Given the description of an element on the screen output the (x, y) to click on. 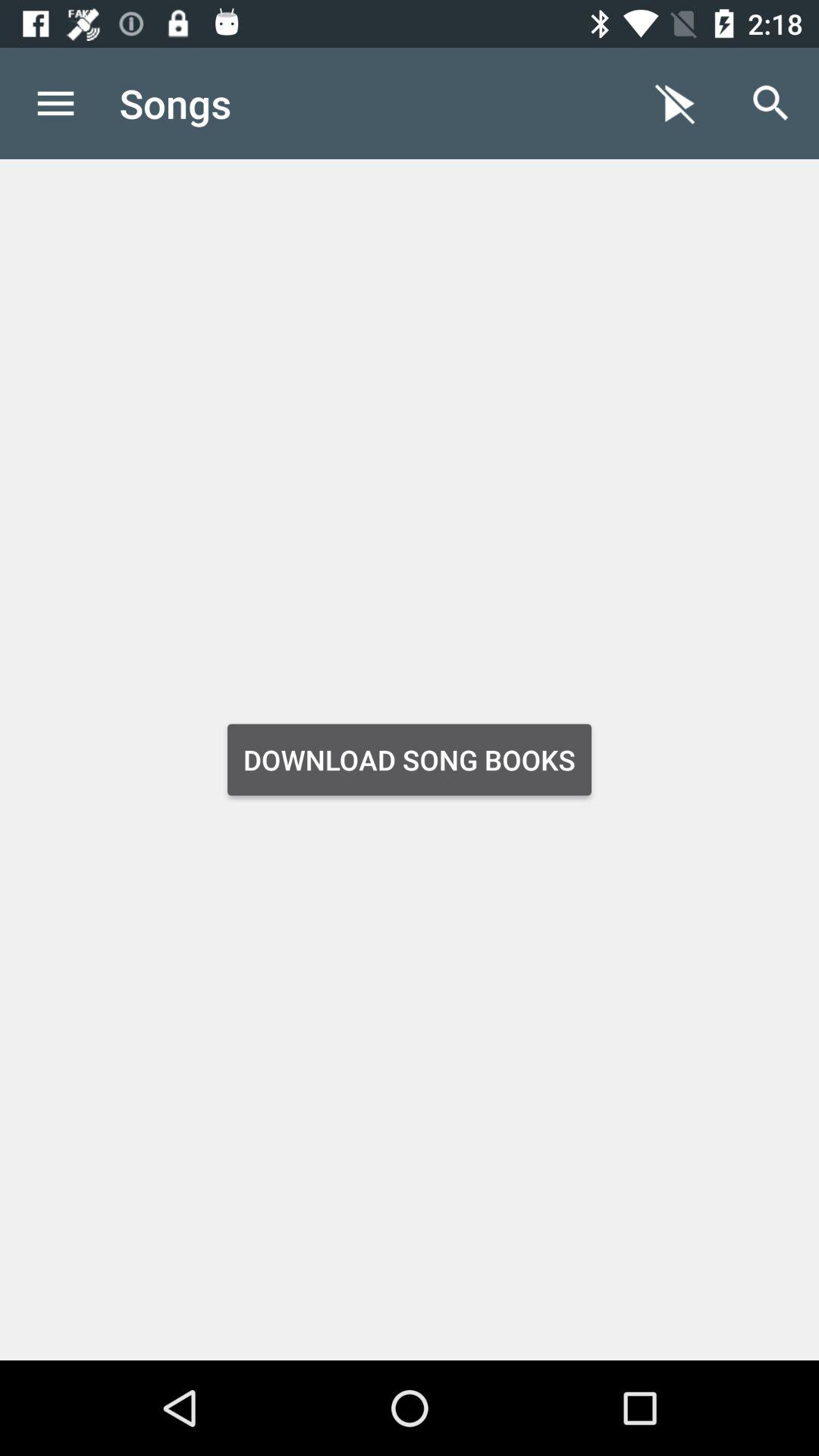
select app below the songs item (409, 759)
